Given the description of an element on the screen output the (x, y) to click on. 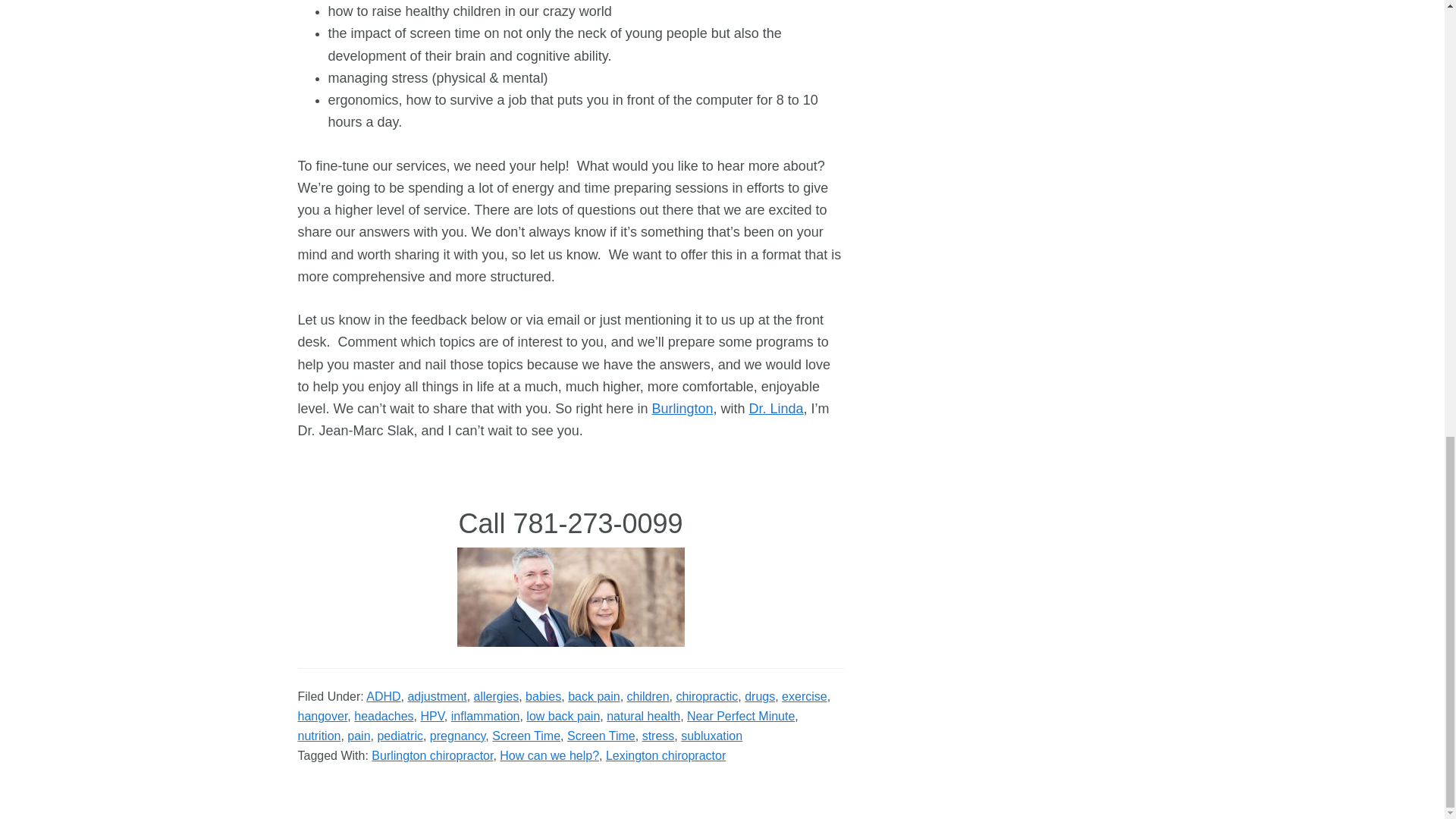
back pain (593, 696)
Burlington (681, 408)
inflammation (485, 716)
children (648, 696)
headaches (383, 716)
Near Perfect Minute (740, 716)
exercise (804, 696)
HPV (432, 716)
babies (542, 696)
hangover (322, 716)
